Given the description of an element on the screen output the (x, y) to click on. 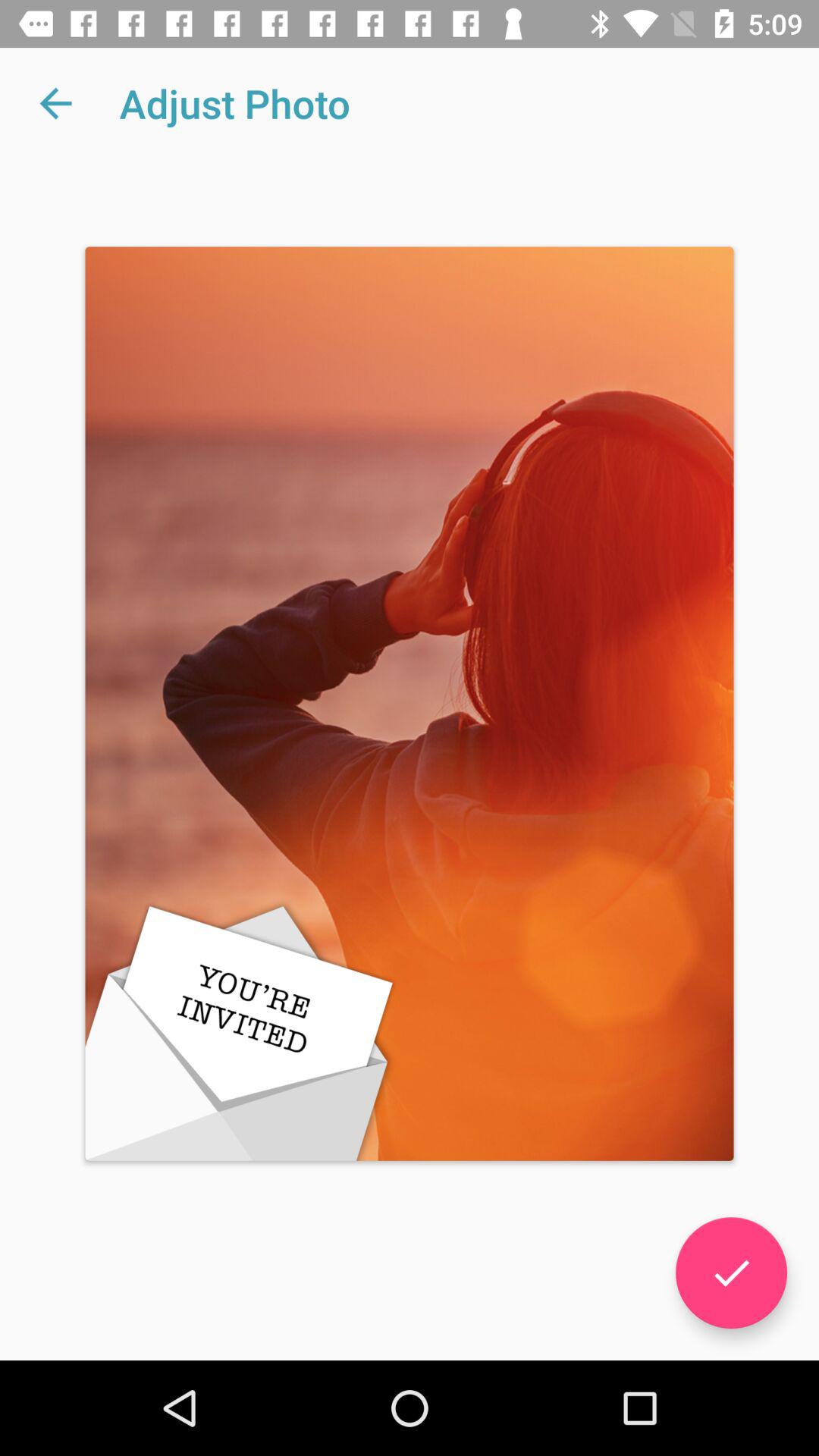
open icon next to adjust photo app (55, 103)
